Given the description of an element on the screen output the (x, y) to click on. 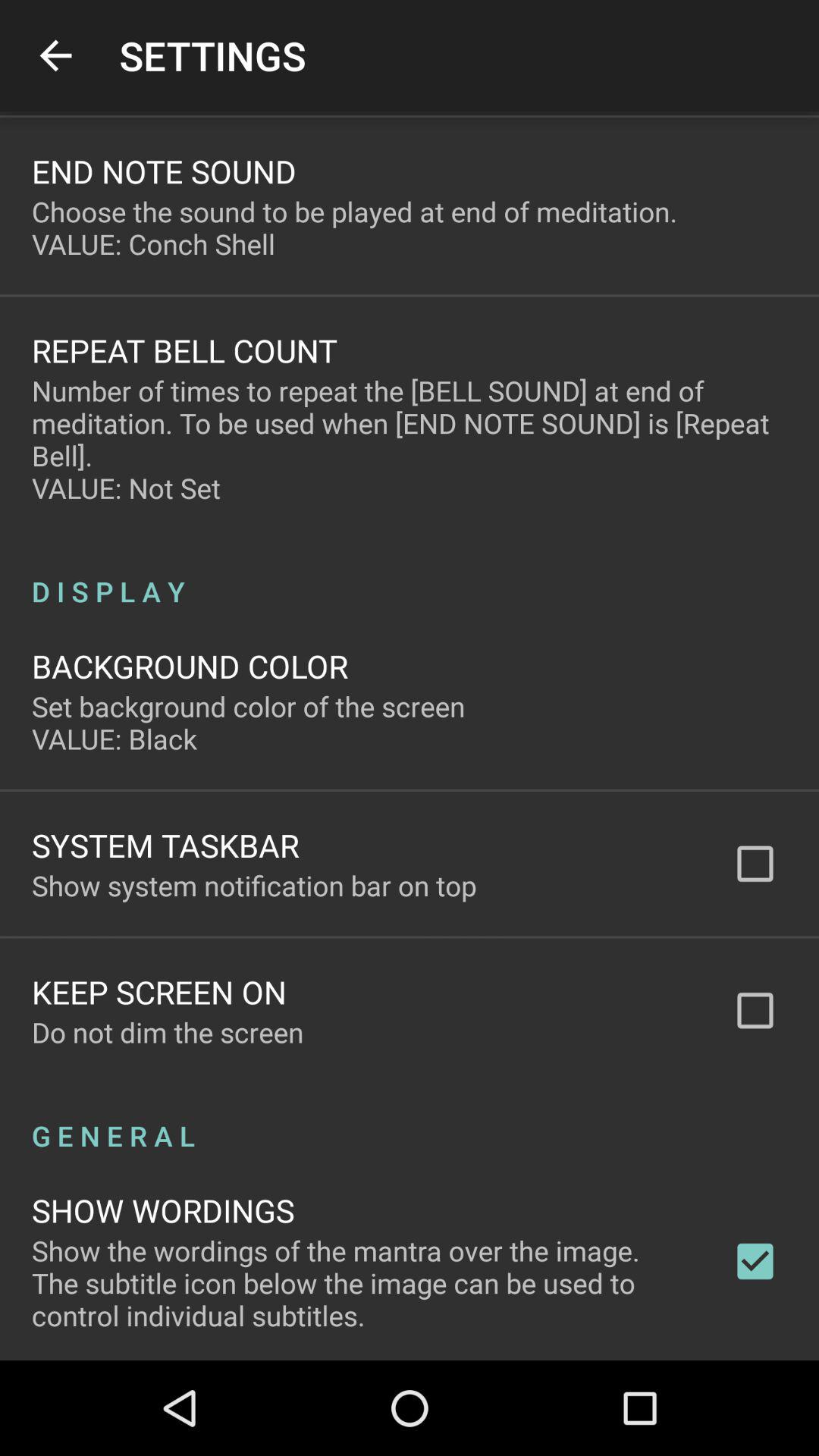
launch icon next to settings icon (55, 55)
